Given the description of an element on the screen output the (x, y) to click on. 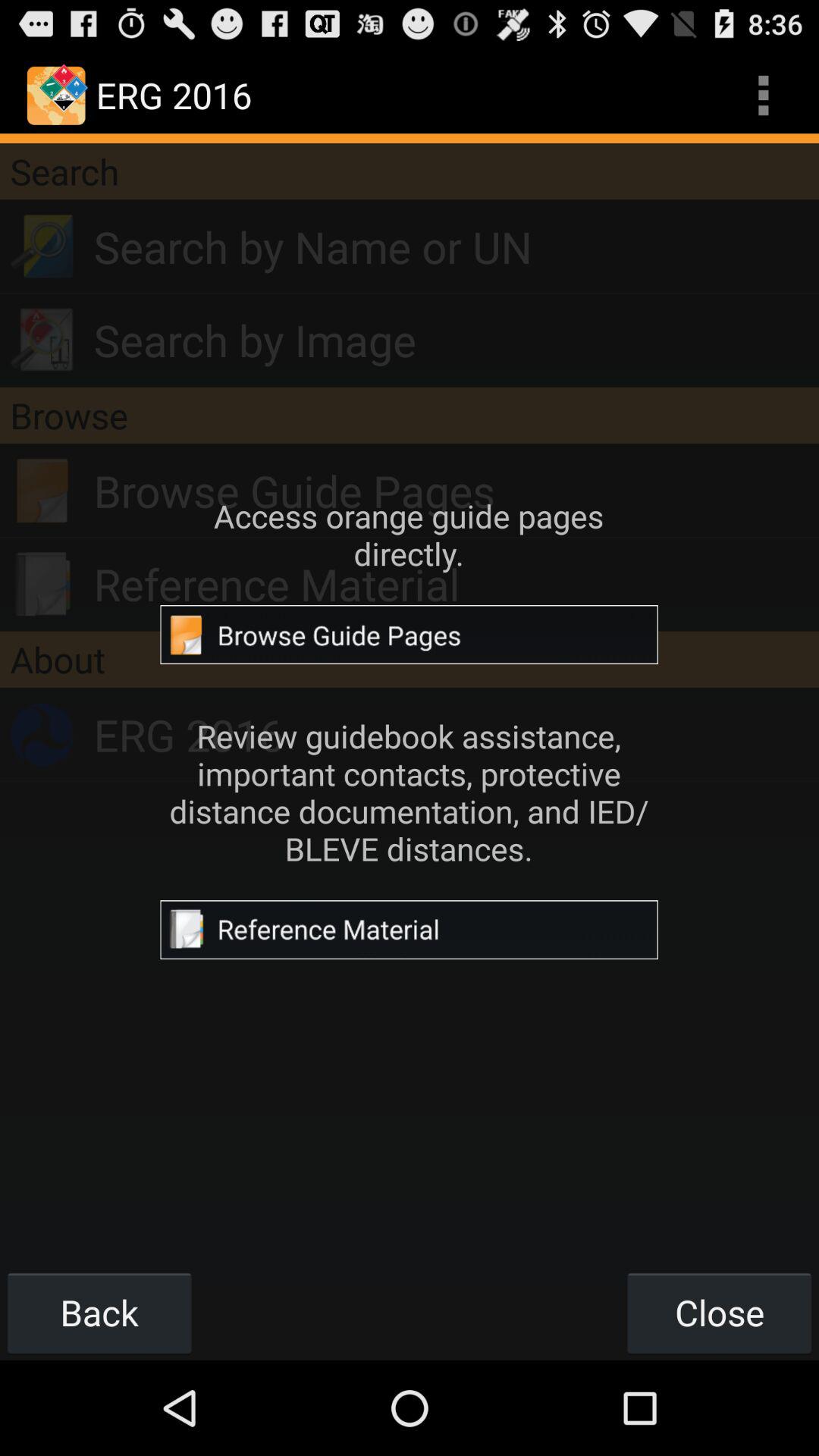
press item to the right of erg 2016 item (763, 95)
